Given the description of an element on the screen output the (x, y) to click on. 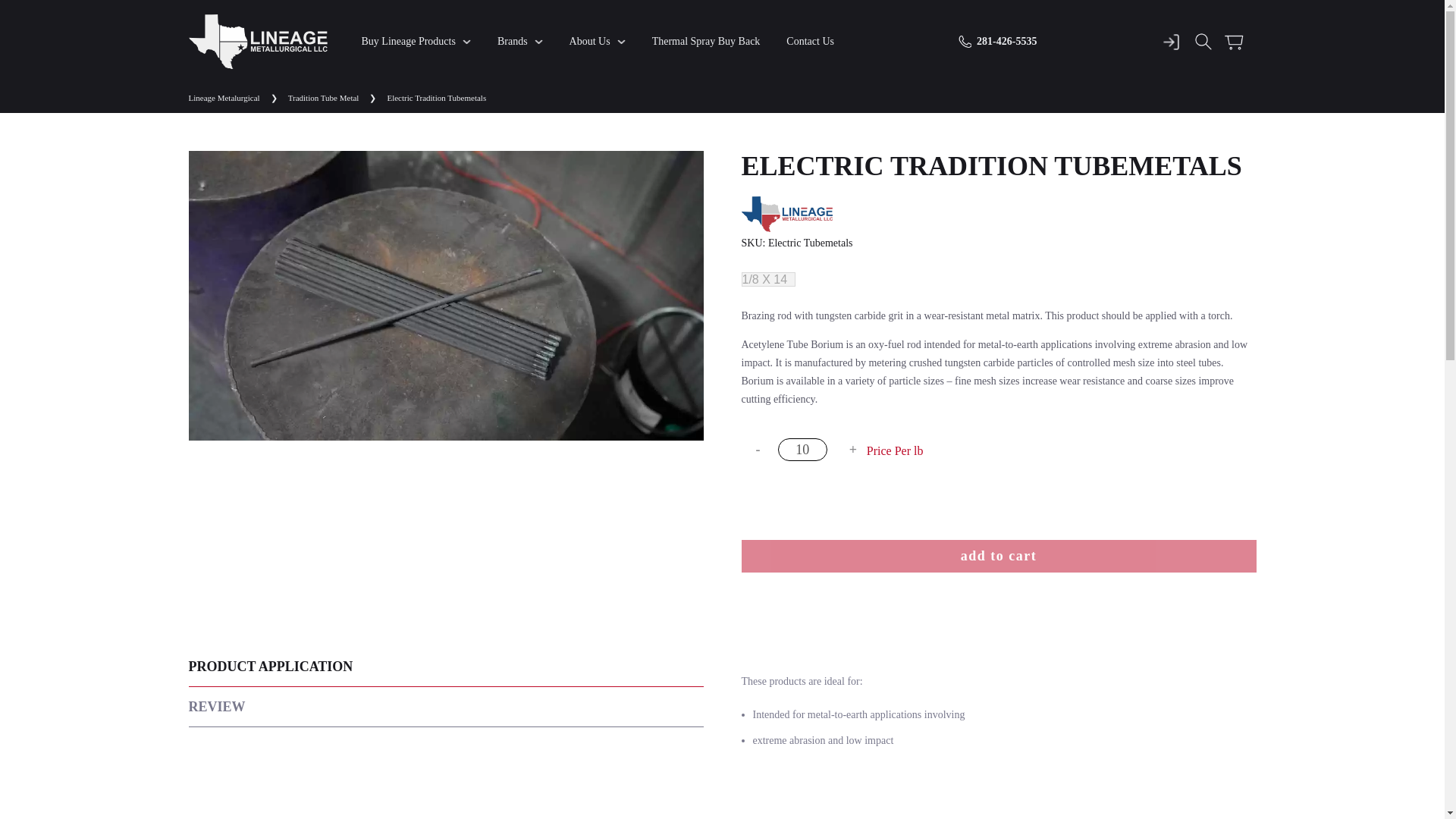
Electric Tradition Tubemetals (256, 41)
Thermal Spray Buy Back (706, 41)
281-426-5535 (997, 41)
10 (802, 449)
add to cart (998, 555)
Tradition Tube Metal (323, 97)
Qty (802, 449)
Lineage Metalurgical (223, 97)
Contact Us (810, 41)
- (755, 450)
